Given the description of an element on the screen output the (x, y) to click on. 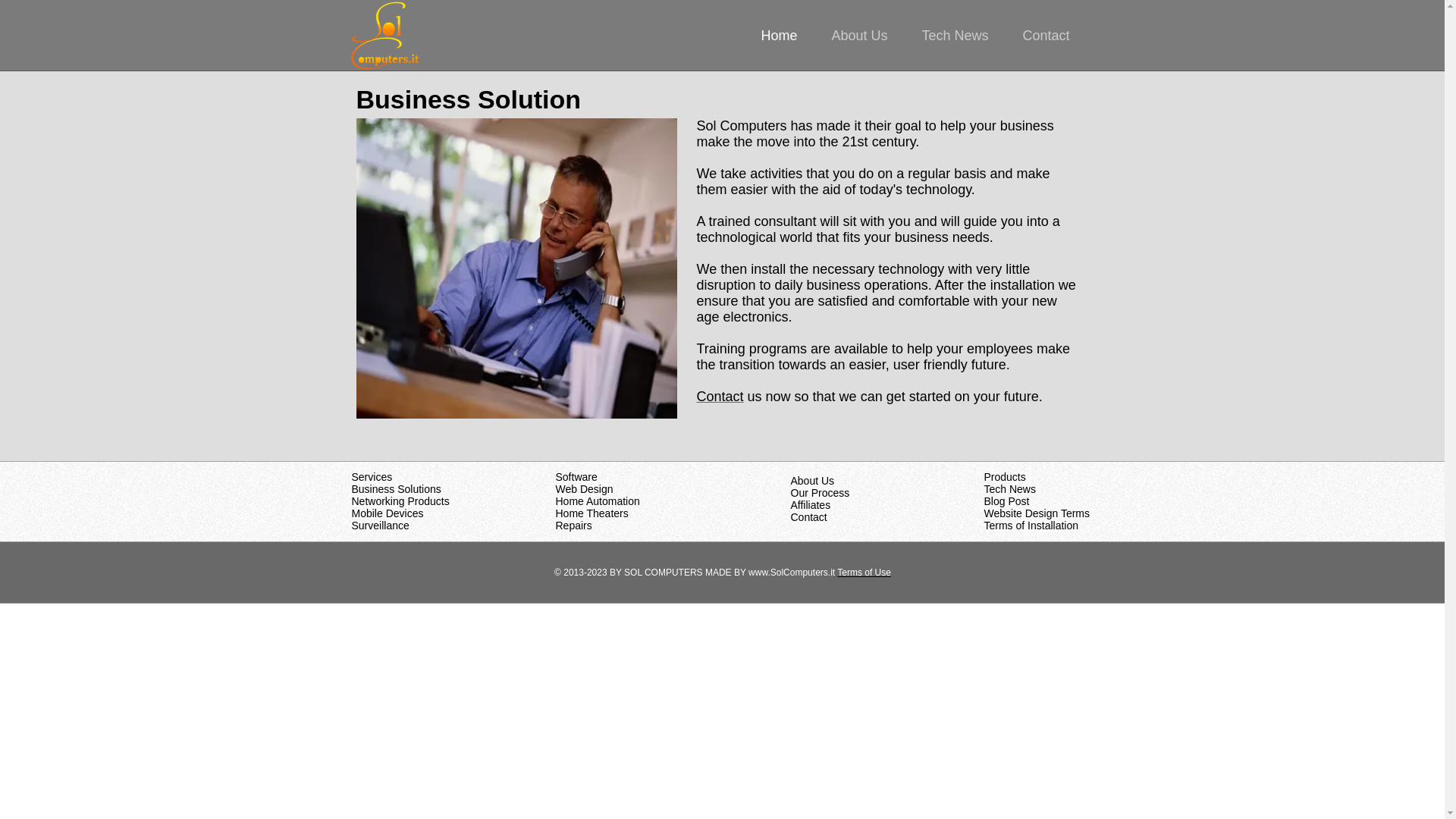
Tech News (961, 35)
Website Design Terms (1037, 512)
Contact (808, 517)
Business Solutions (396, 489)
Home (786, 35)
Products (1005, 476)
www.SolComputers.it (791, 572)
Contact (1053, 35)
Terms of Use (864, 572)
Tech News (1009, 489)
Services (372, 476)
Web Design (583, 489)
Surveillance (380, 525)
Software (575, 476)
Home Theaters (590, 512)
